Given the description of an element on the screen output the (x, y) to click on. 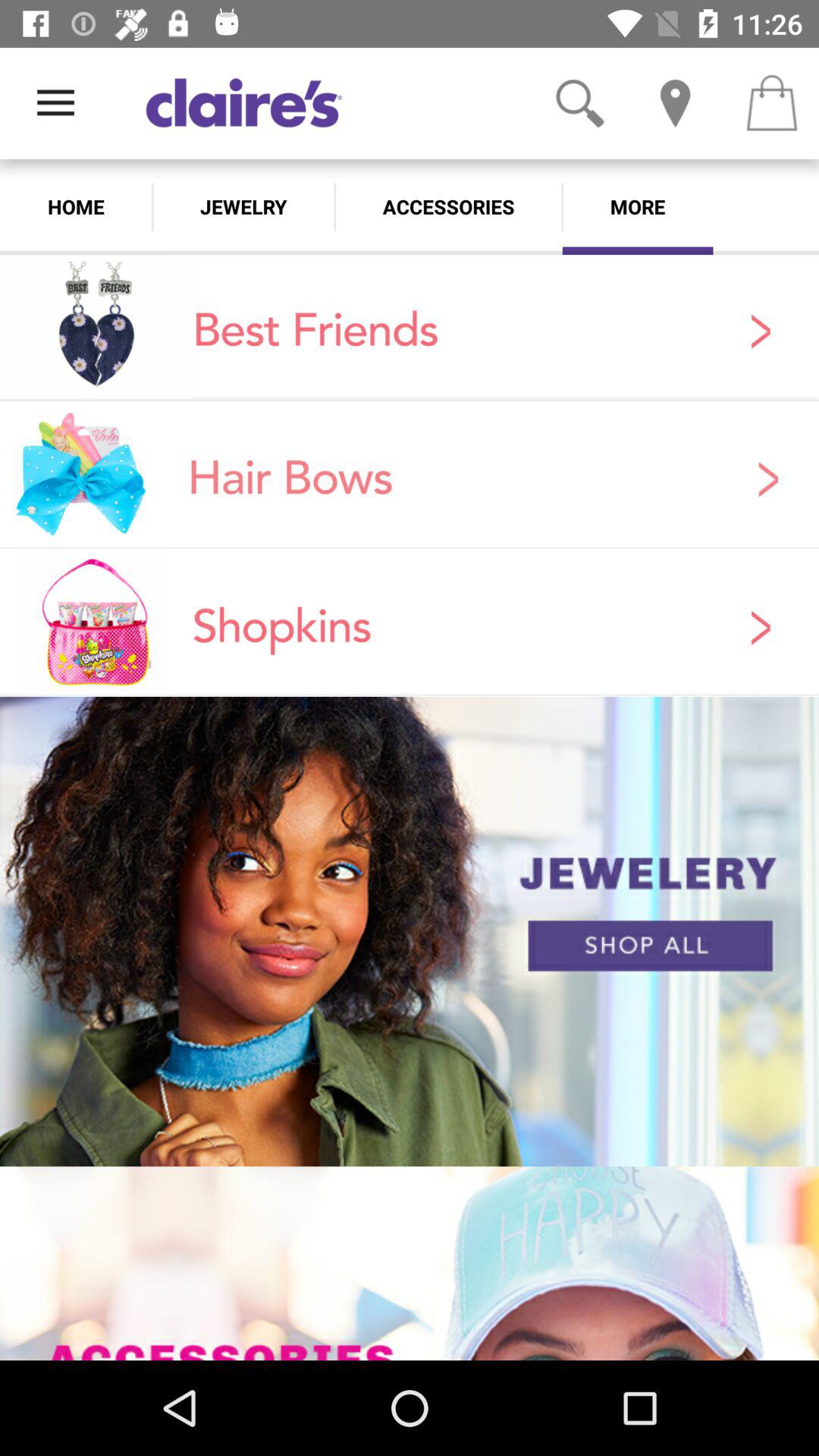
press the item above home icon (55, 103)
